Given the description of an element on the screen output the (x, y) to click on. 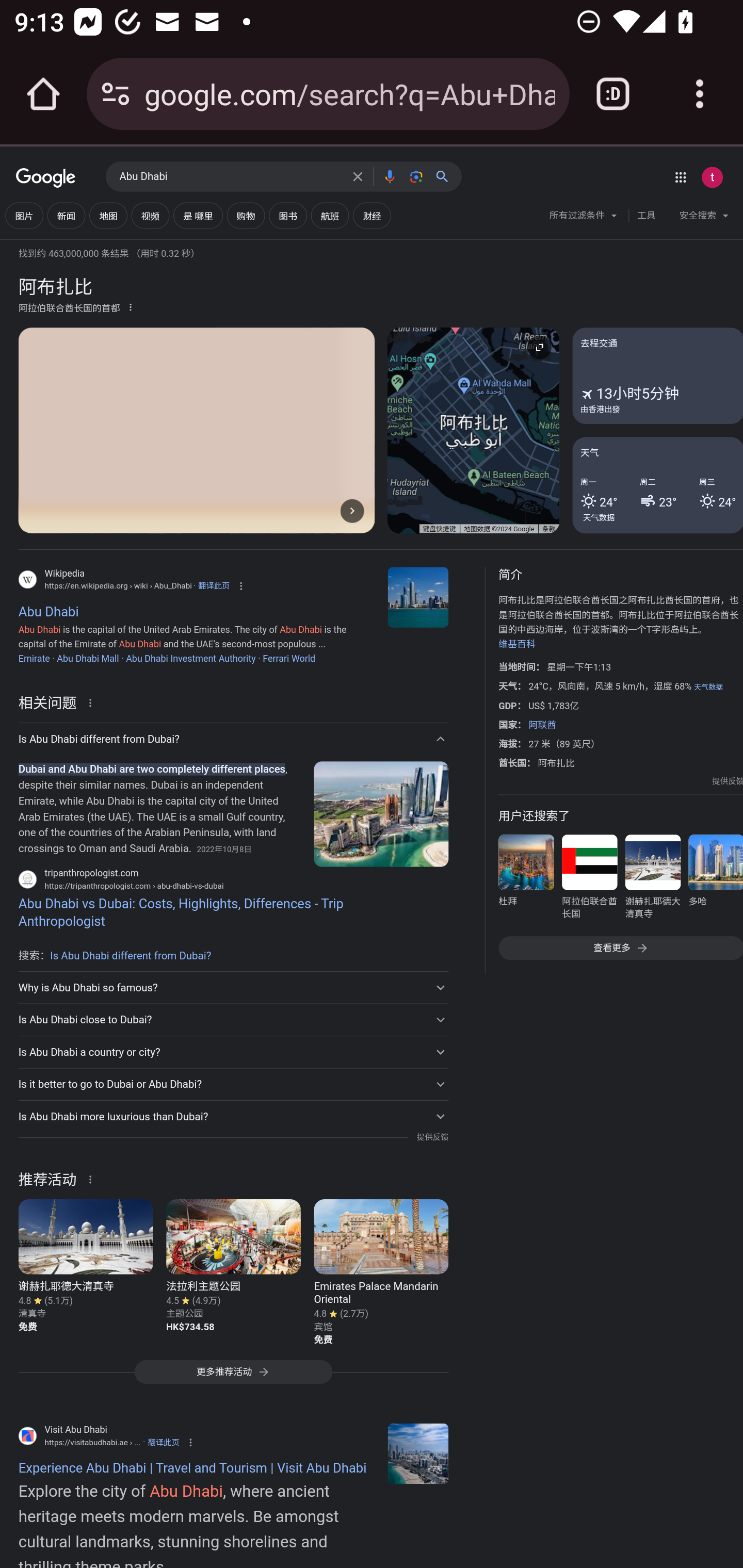
Open the home page (43, 93)
Connection is secure (115, 93)
Switch or close tabs (612, 93)
Customize and control Google Chrome (699, 93)
清除 (357, 176)
按语音搜索 (389, 176)
按图搜索 (415, 176)
搜索 (446, 176)
Google 应用 (680, 176)
Google 账号： test appium (testappium002@gmail.com) (712, 176)
Google (45, 178)
Abu Dhabi (229, 177)
图片 (24, 215)
新闻 (65, 215)
地图 (107, 215)
视频 (149, 215)
添加“是 哪里” 是 哪里 (197, 215)
购物 (245, 215)
图书 (287, 215)
航班 (329, 215)
财经 (371, 215)
所有过滤条件 (583, 217)
工具 (646, 215)
安全搜索 (703, 217)
更多选项 (130, 306)
去程交通 13小时5分钟 乘坐飞机 由香港出發 (657, 375)
展开地图 (539, 346)
天气 周一 高温 24 度 周二 高温 23 度 周三 高温 24 度 (657, 484)
下一张图片 (352, 510)
天气数据 (599, 516)
Abu_Dhabi (417, 597)
翻译此页 (213, 585)
维基百科 (516, 643)
Emirate (33, 658)
Abu Dhabi Mall (87, 658)
Abu Dhabi Investment Authority (190, 658)
Ferrari World (288, 658)
天气数据 (708, 687)
关于这条结果的详细信息 (93, 701)
阿联酋 (541, 724)
Is Abu Dhabi different from Dubai? (232, 738)
提供反馈 (727, 781)
杜拜 (526, 880)
阿拉伯联合酋长国 (588, 880)
谢赫扎耶德大清真寺 (652, 880)
多哈 (715, 880)
查看更多 查看更多 查看更多 (620, 947)
Is Abu Dhabi different from Dubai? (130, 955)
Why is Abu Dhabi so famous? (232, 986)
Is Abu Dhabi close to Dubai? (232, 1019)
Is Abu Dhabi a country or city? (232, 1051)
Is it better to go to Dubai or Abu Dhabi? (232, 1083)
Is Abu Dhabi more luxurious than Dubai? (232, 1116)
提供反馈 (432, 1137)
关于这条结果的详细信息 (93, 1178)
更多推荐活动 (232, 1377)
en (417, 1453)
翻译此页 (163, 1442)
